Given the description of an element on the screen output the (x, y) to click on. 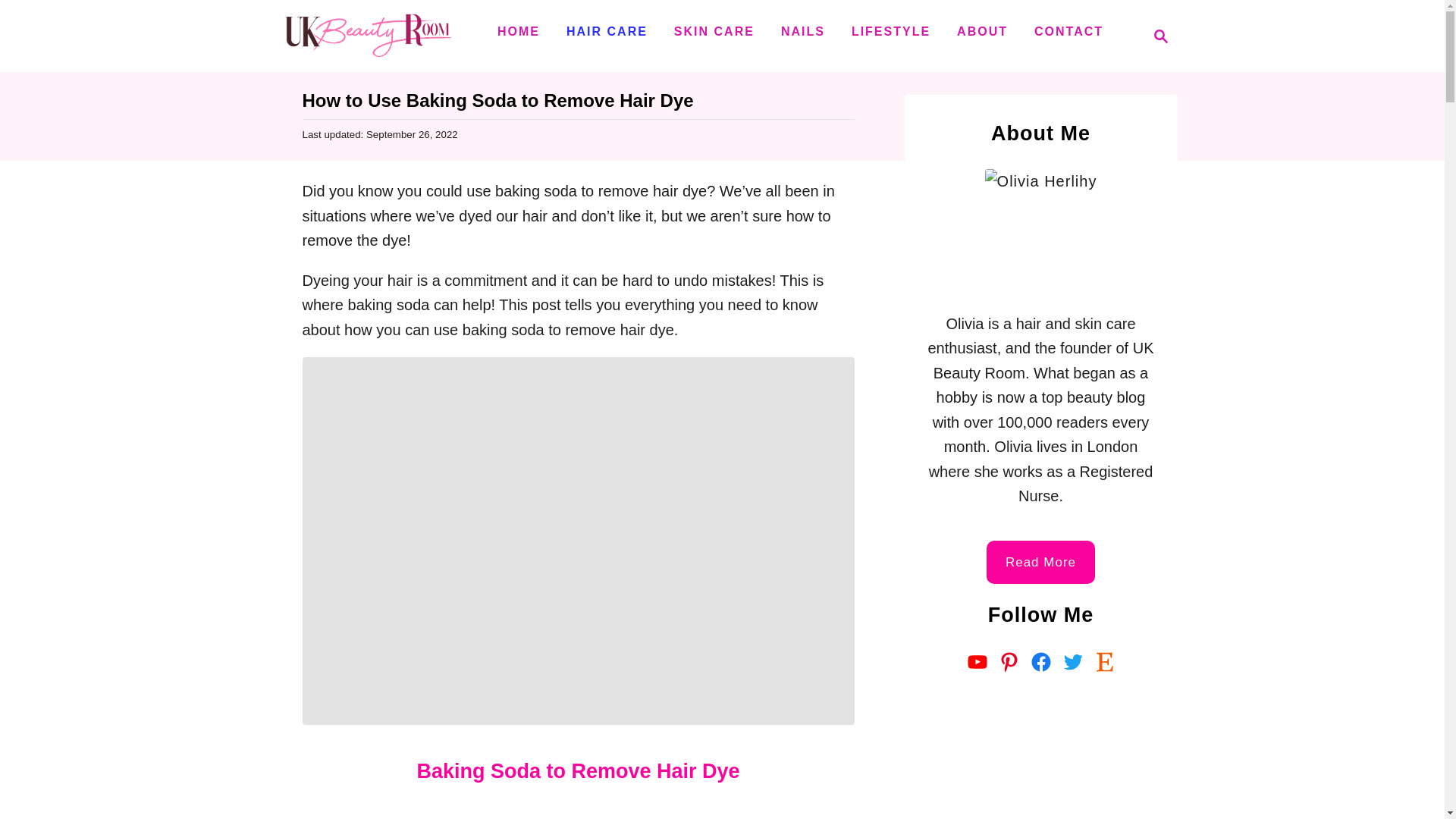
ABOUT (981, 31)
NAILS (802, 31)
Magnifying Glass (1160, 36)
HAIR CARE (607, 31)
SKIN CARE (713, 31)
UK Beauty Room (367, 35)
LIFESTYLE (890, 31)
HOME (1155, 36)
CONTACT (518, 31)
